Given the description of an element on the screen output the (x, y) to click on. 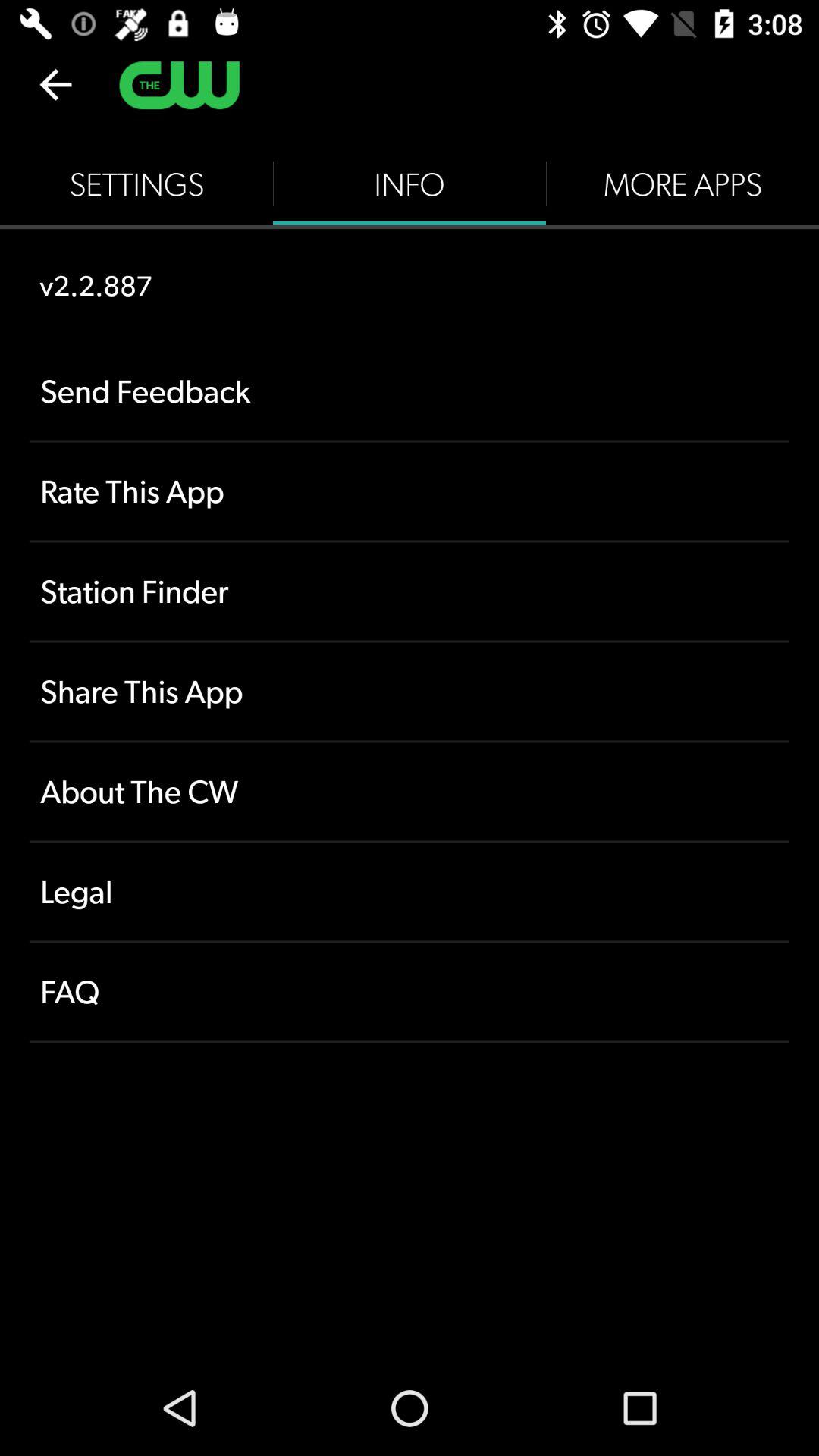
turn off item above legal (409, 791)
